Given the description of an element on the screen output the (x, y) to click on. 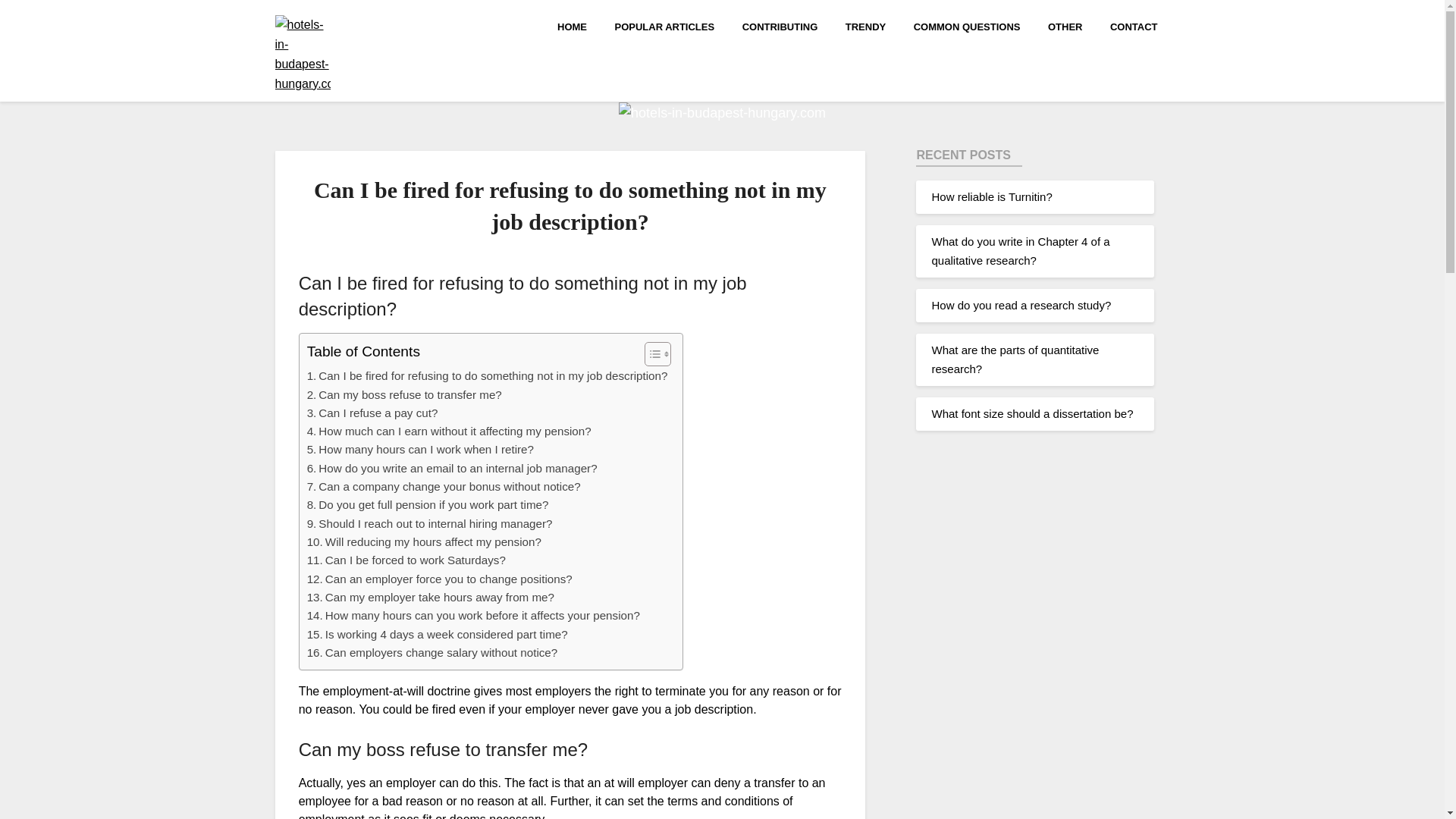
CONTACT (1133, 26)
Do you get full pension if you work part time? (427, 505)
How much can I earn without it affecting my pension? (449, 431)
Can I be forced to work Saturdays? (406, 560)
Can I refuse a pay cut? (372, 413)
Do you get full pension if you work part time? (427, 505)
How many hours can you work before it affects your pension? (473, 615)
How many hours can I work when I retire? (420, 449)
TRENDY (865, 26)
